Given the description of an element on the screen output the (x, y) to click on. 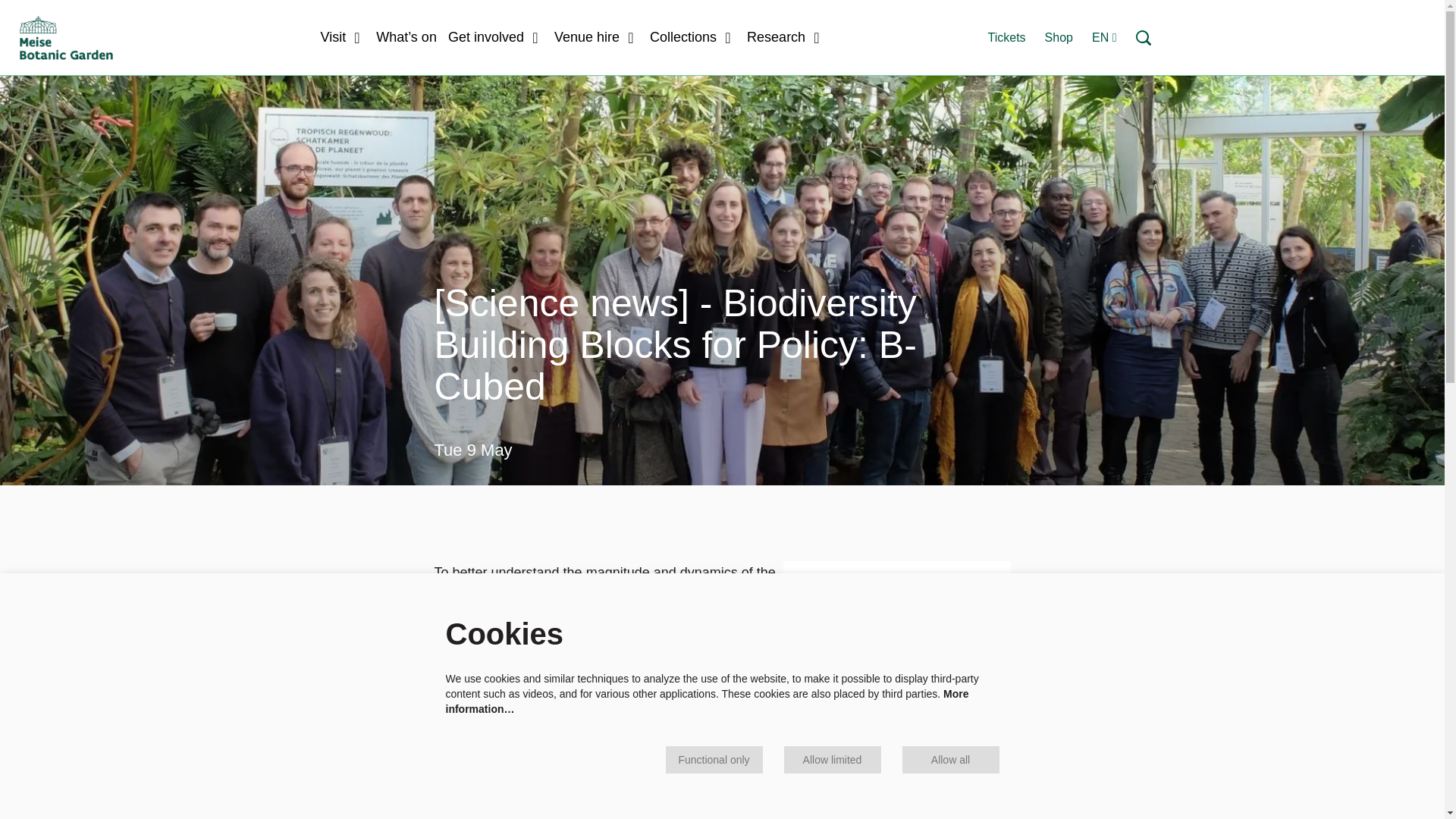
EN (1104, 37)
Shop (1059, 36)
Collections (692, 37)
Get involved (495, 37)
Go to homepage (65, 36)
Visit (342, 37)
Research (785, 37)
Venue hire (596, 37)
Tickets (1006, 36)
